Given the description of an element on the screen output the (x, y) to click on. 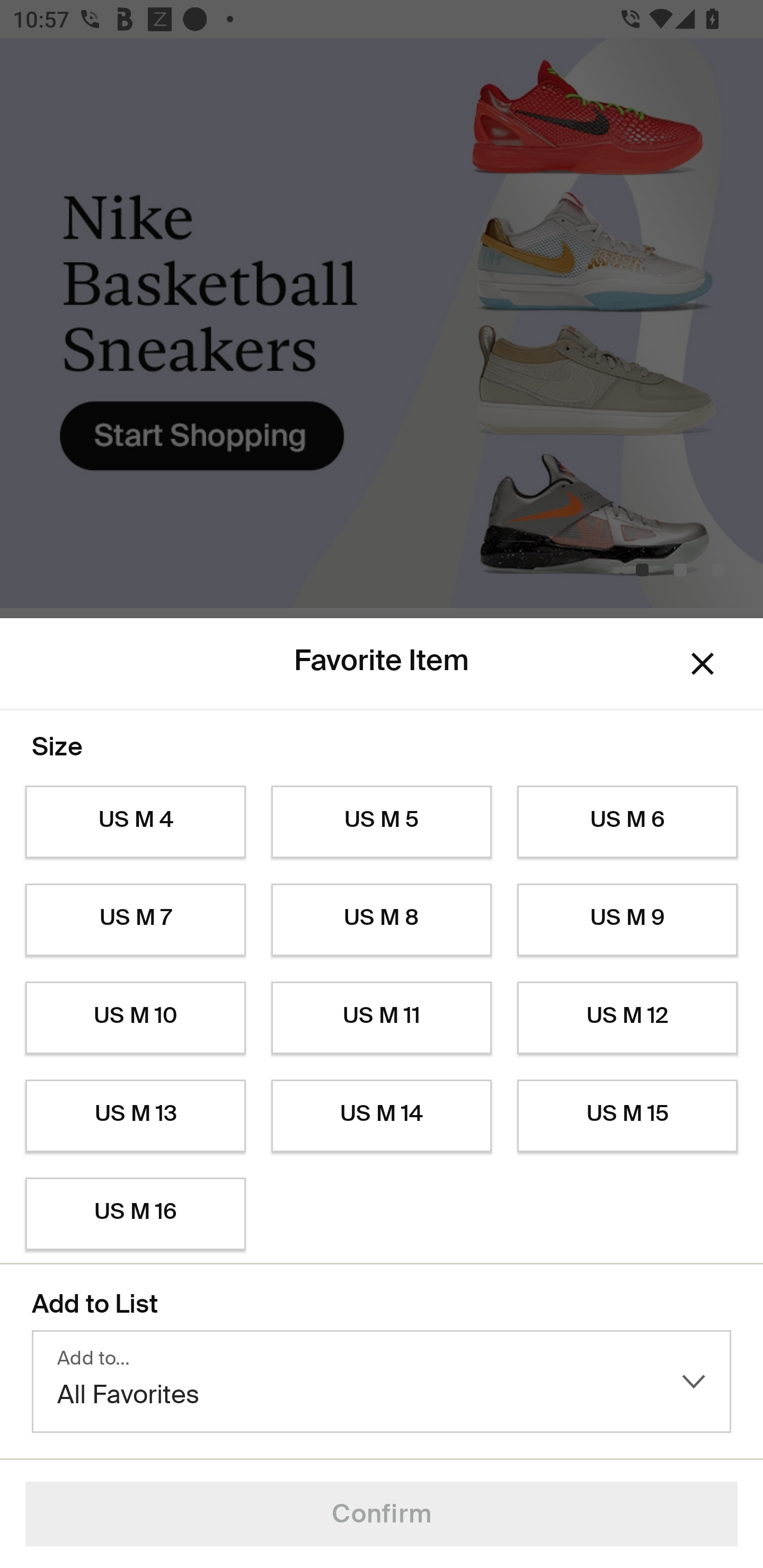
Dismiss (702, 663)
US M 4 (135, 822)
US M 5 (381, 822)
US M 6 (627, 822)
US M 7 (135, 919)
US M 8 (381, 919)
US M 9 (627, 919)
US M 10 (135, 1018)
US M 11 (381, 1018)
US M 12 (627, 1018)
US M 13 (135, 1116)
US M 14 (381, 1116)
US M 15 (627, 1116)
US M 16 (135, 1214)
Add to… All Favorites (381, 1381)
Confirm (381, 1513)
